Given the description of an element on the screen output the (x, y) to click on. 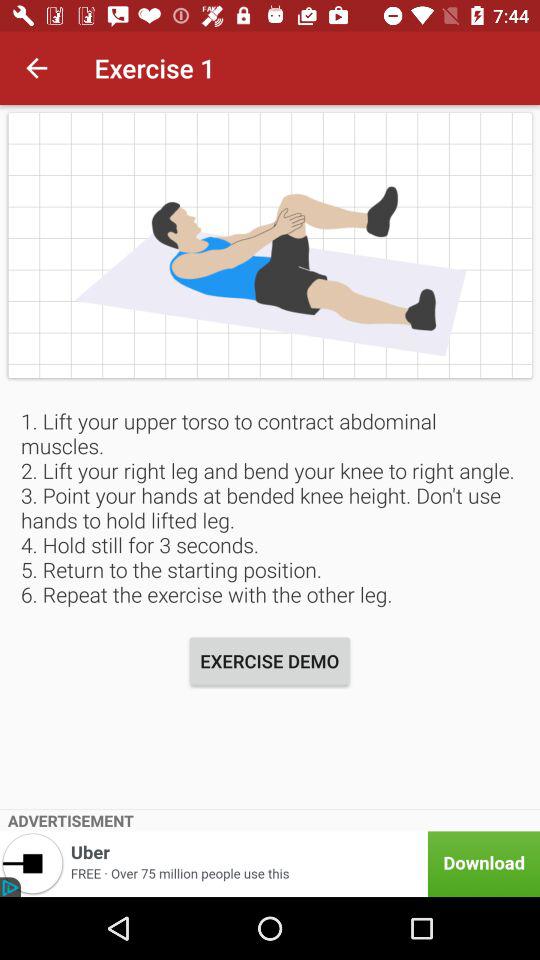
select item below advertisement item (270, 863)
